Given the description of an element on the screen output the (x, y) to click on. 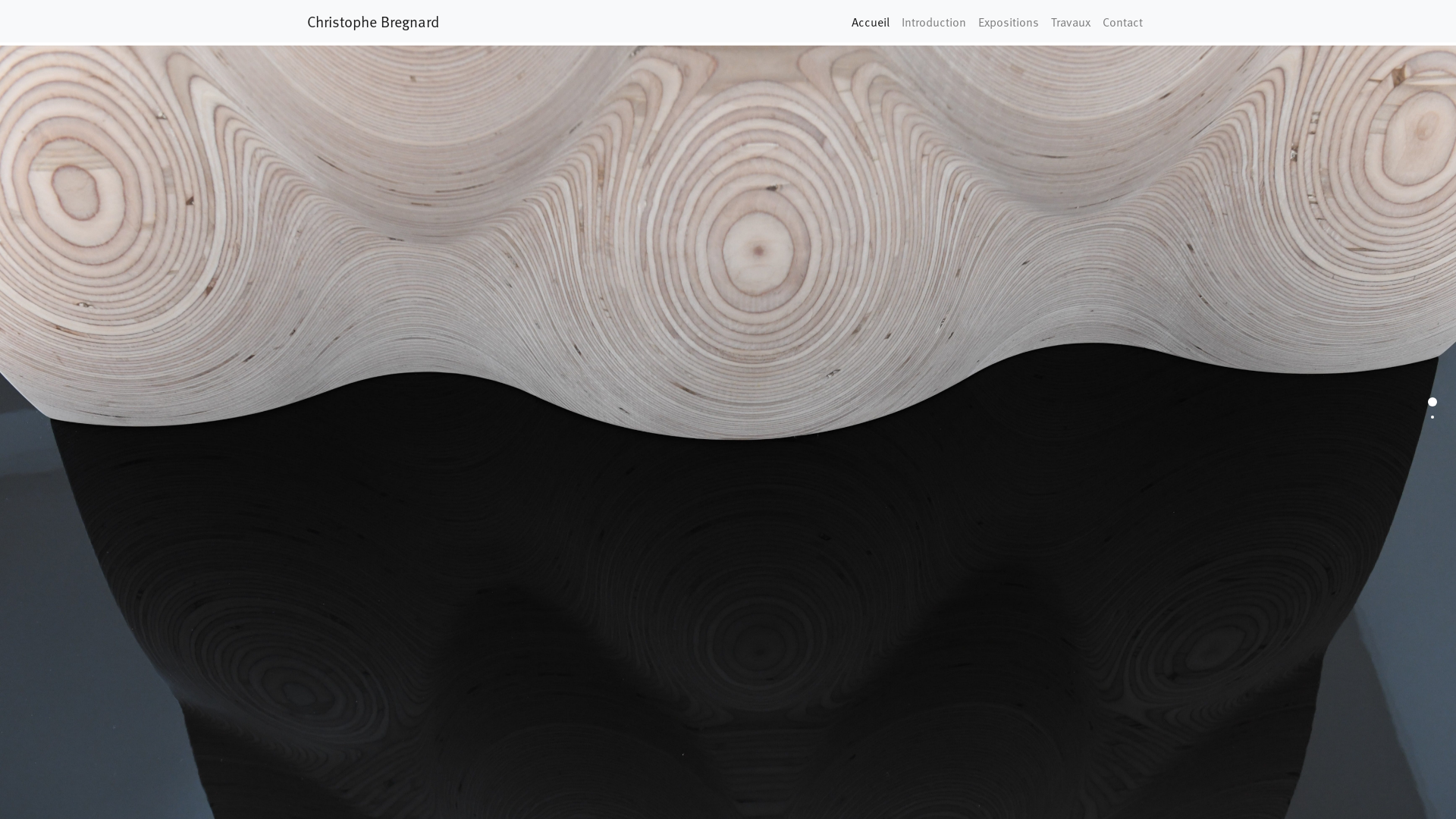
Christophe Bregnard Element type: text (373, 21)
Section 1 Element type: text (1432, 402)
Accueil Element type: text (870, 21)
Contact Element type: text (1122, 21)
Expositions Element type: text (1008, 21)
Introduction Element type: text (933, 21)
Section 2 Element type: text (1432, 417)
Travaux Element type: text (1070, 21)
